Given the description of an element on the screen output the (x, y) to click on. 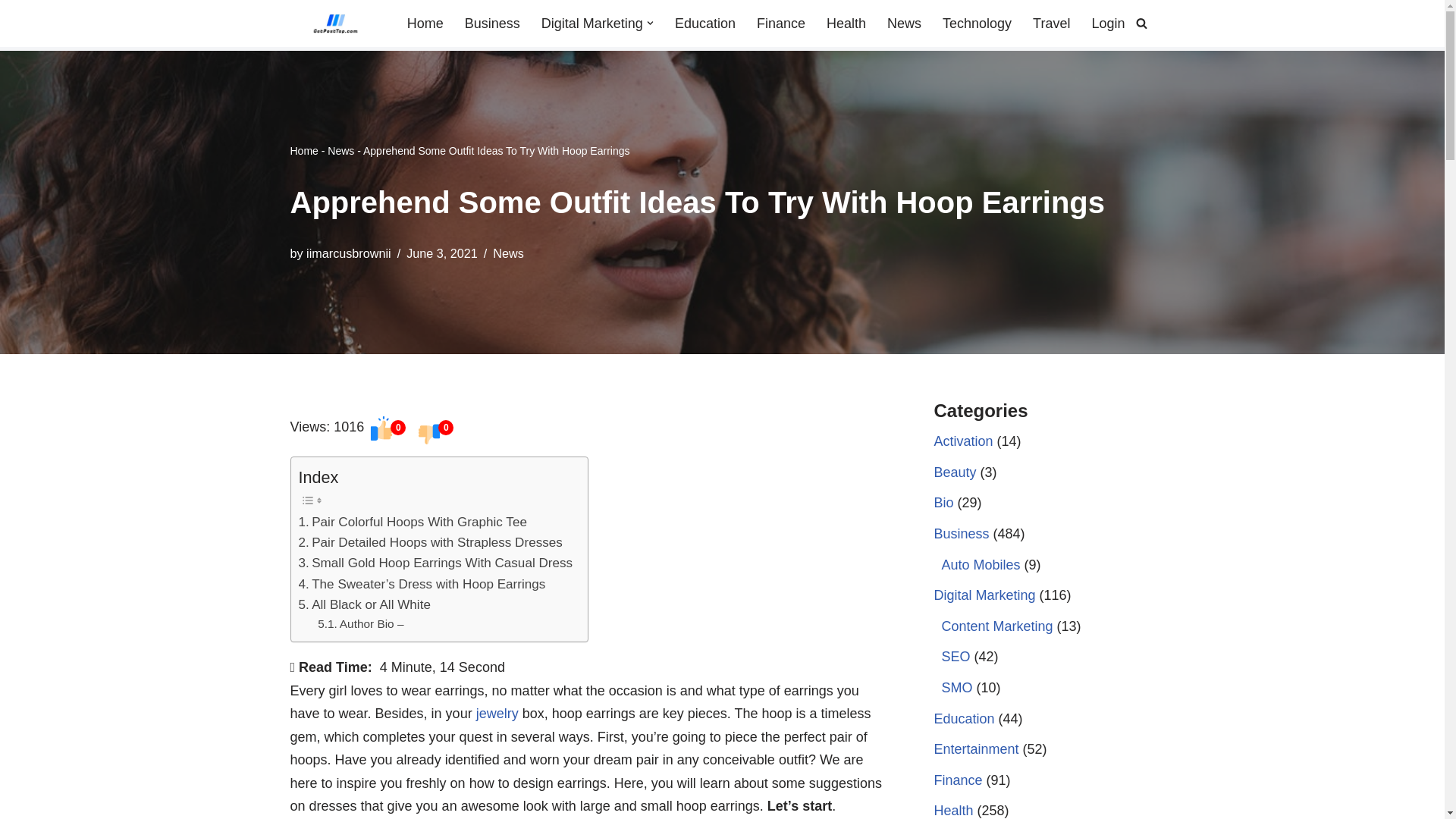
Finance (781, 23)
Home (425, 23)
All Black or All White (364, 604)
Login (1107, 23)
Business (491, 23)
Skip to content (11, 31)
Posts by iimarcusbrownii (348, 253)
News (903, 23)
Travel (1051, 23)
Digital Marketing (592, 23)
